Given the description of an element on the screen output the (x, y) to click on. 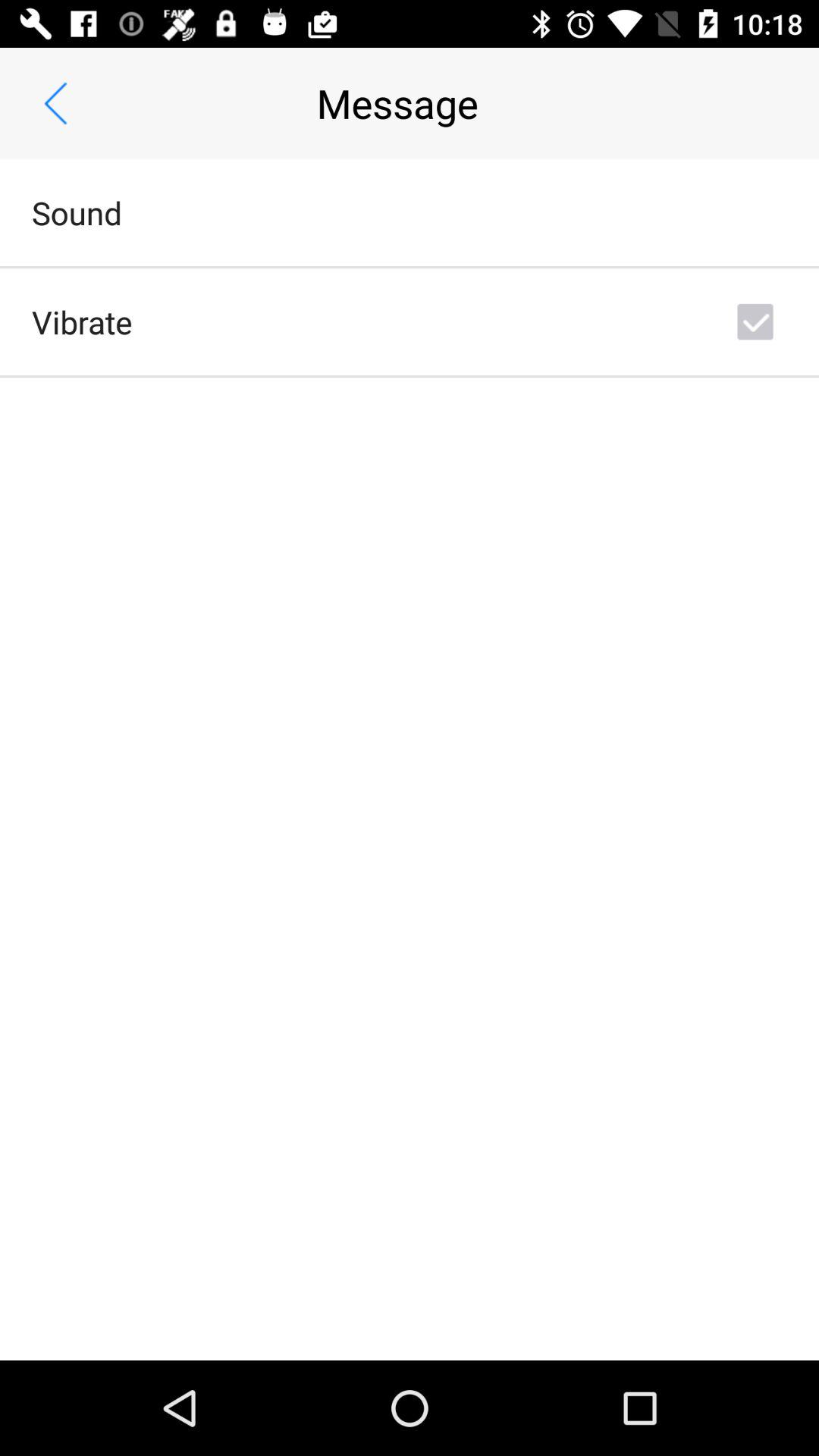
choose the app next to message (55, 103)
